Given the description of an element on the screen output the (x, y) to click on. 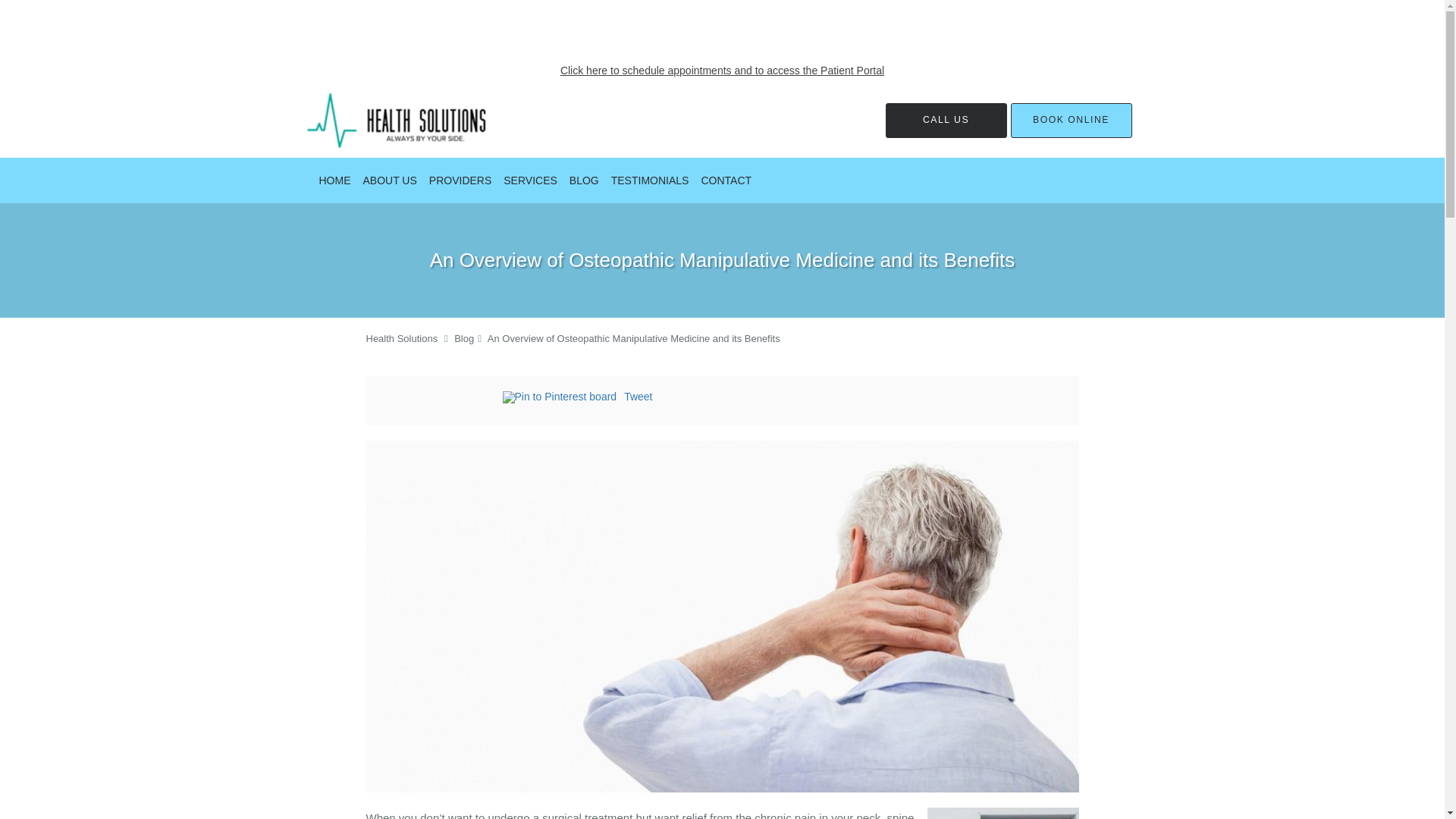
HOME (334, 180)
Blog (464, 337)
BLOG (584, 180)
CONTACT (725, 180)
CALL US (946, 120)
TESTIMONIALS (650, 180)
ABOUT US (389, 180)
Facebook social button (441, 399)
PROVIDERS (460, 180)
Tweet (638, 396)
Health Solutions (401, 337)
BOOK ONLINE (1070, 120)
SERVICES (530, 180)
